Given the description of an element on the screen output the (x, y) to click on. 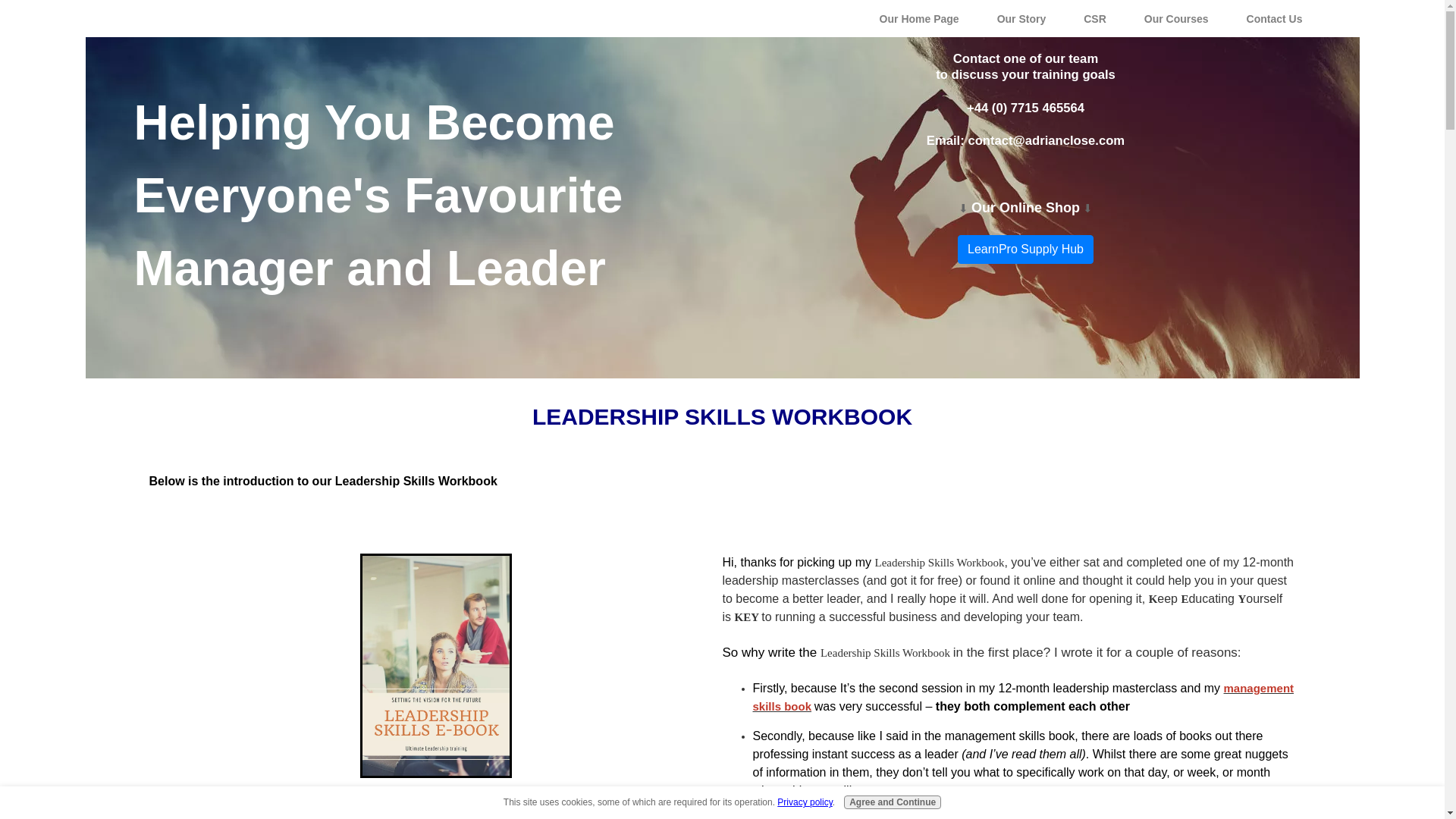
CSR (1094, 18)
Our Story (1021, 18)
LearnPro Supply Hub (1025, 249)
Our Home Page (919, 18)
management skills book (1023, 697)
